Given the description of an element on the screen output the (x, y) to click on. 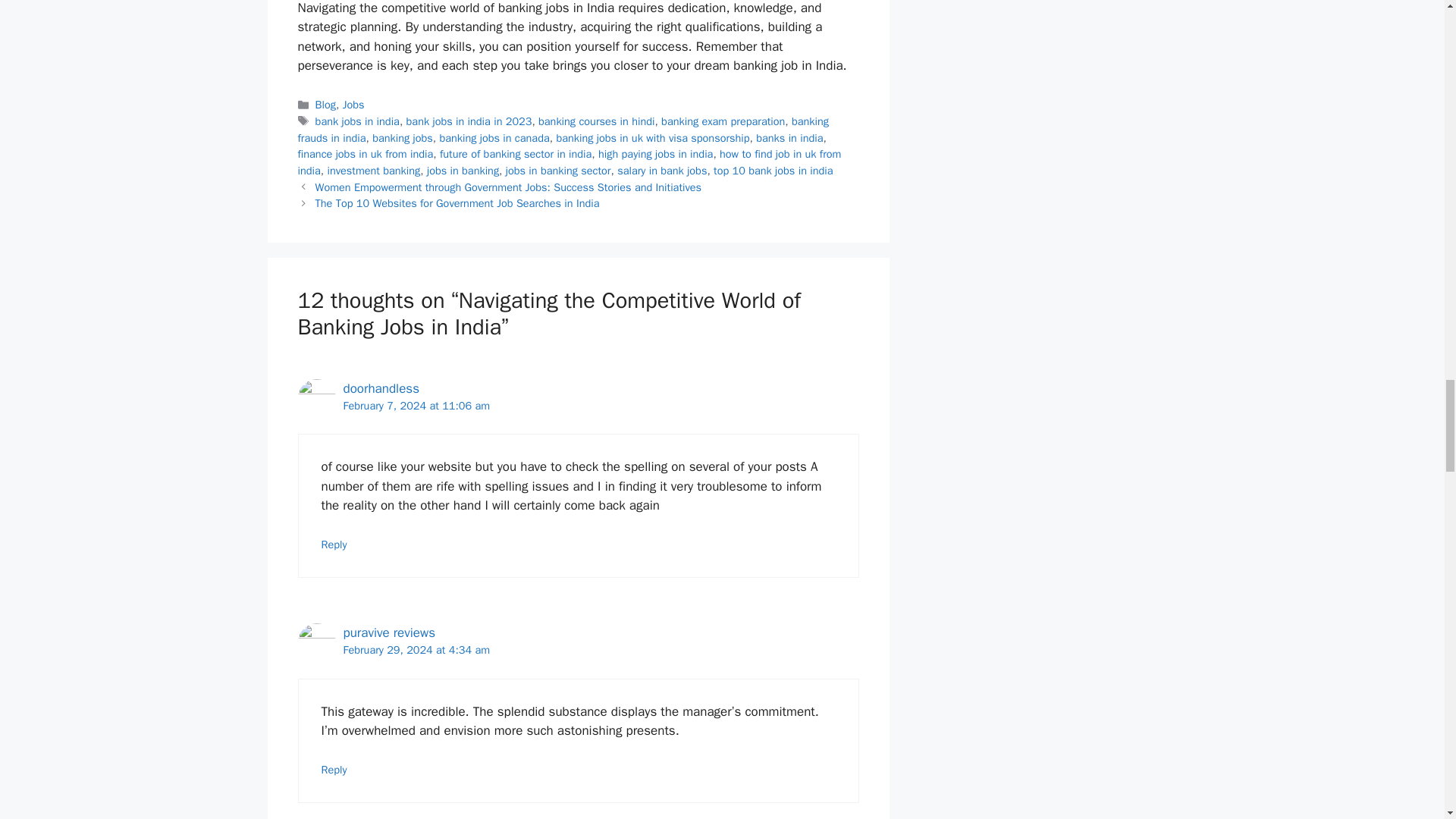
banking courses in hindi (595, 120)
bank jobs in india in 2023 (469, 120)
banking jobs (402, 137)
Blog (325, 104)
bank jobs in india (356, 120)
banking frauds in india (562, 129)
Jobs (353, 104)
banking exam preparation (722, 120)
